Given the description of an element on the screen output the (x, y) to click on. 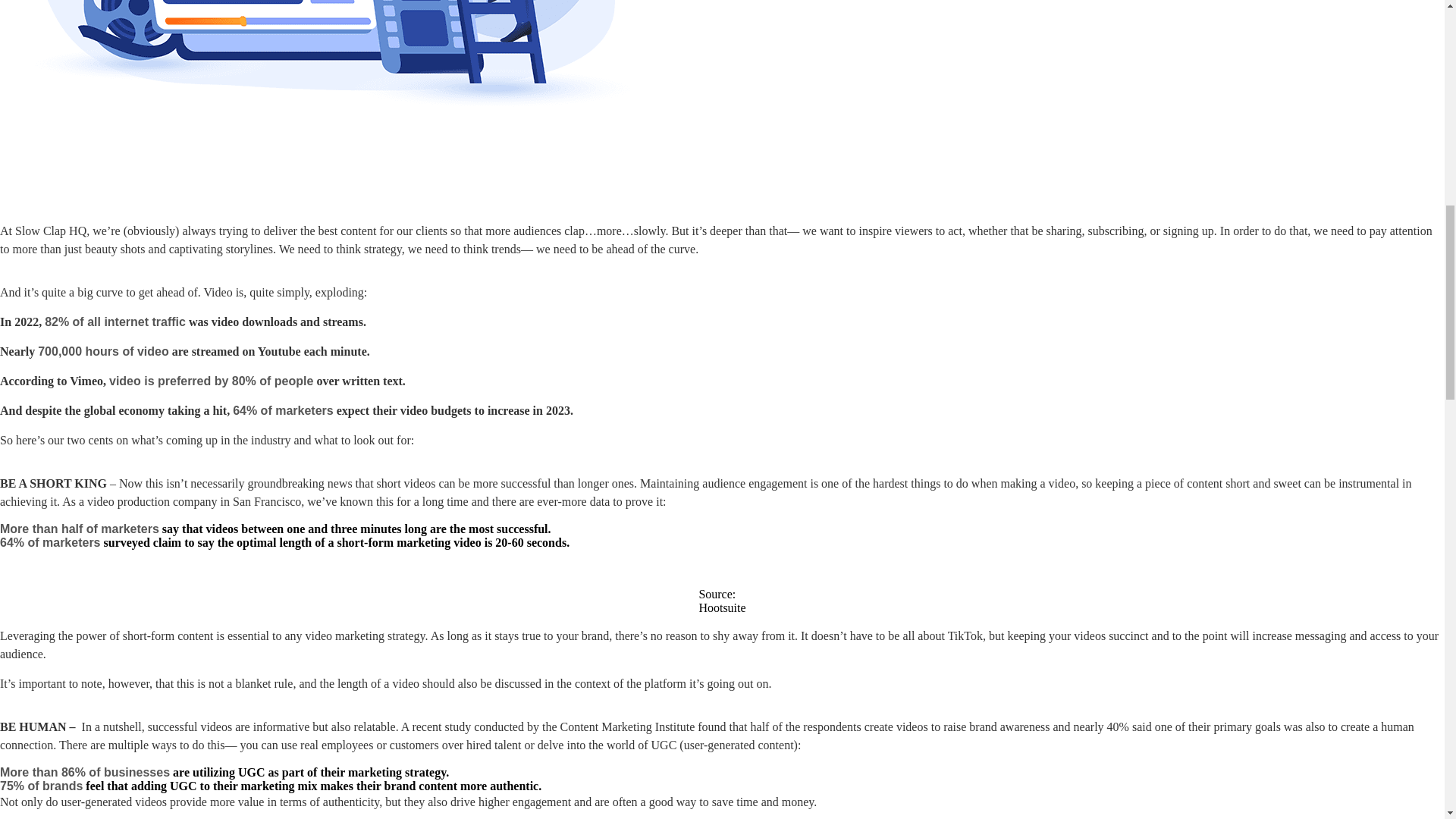
700,000 hours of video (102, 350)
of people (285, 380)
More than half of marketers (79, 528)
